Given the description of an element on the screen output the (x, y) to click on. 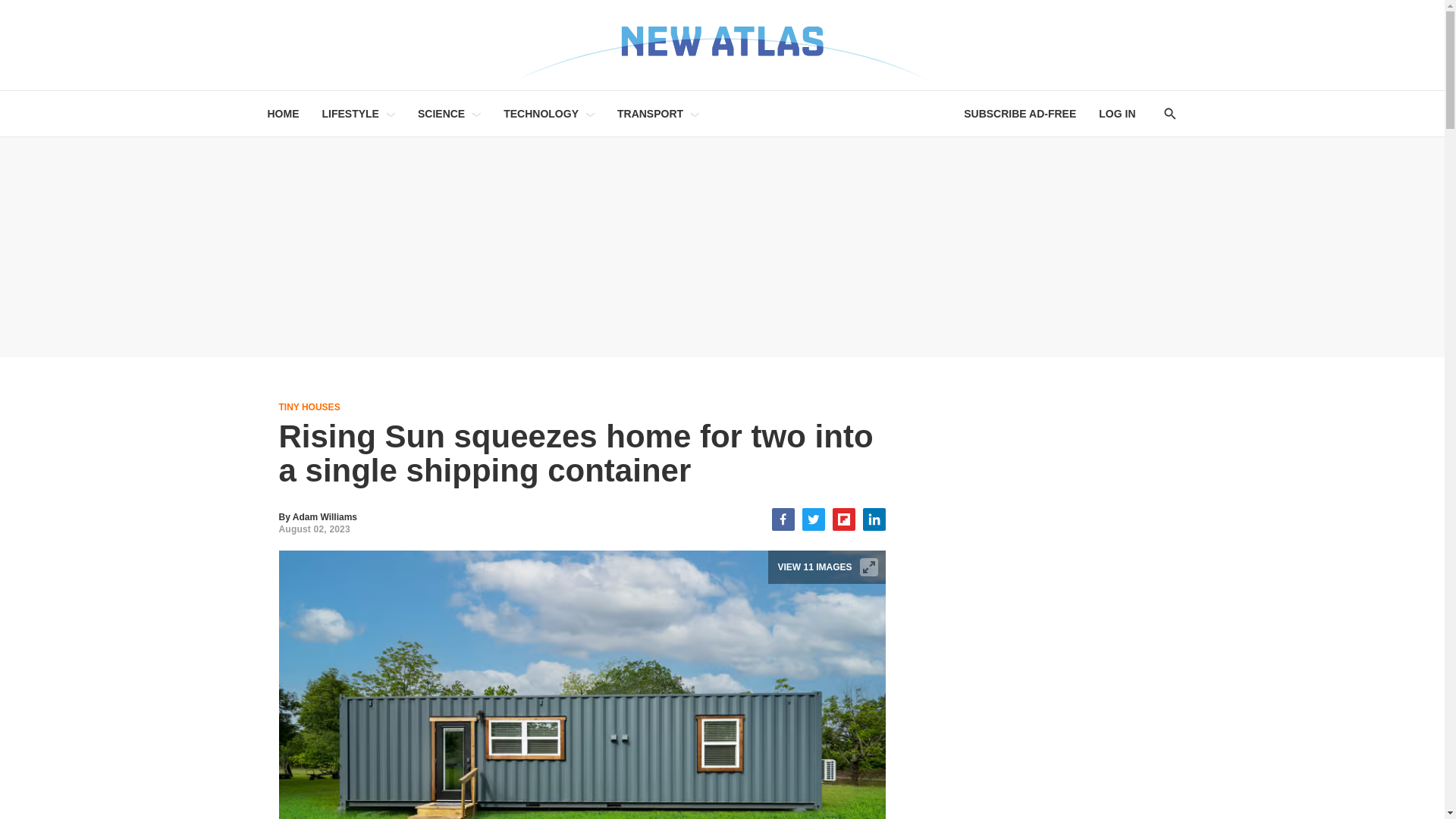
View full-screen (868, 566)
